Given the description of an element on the screen output the (x, y) to click on. 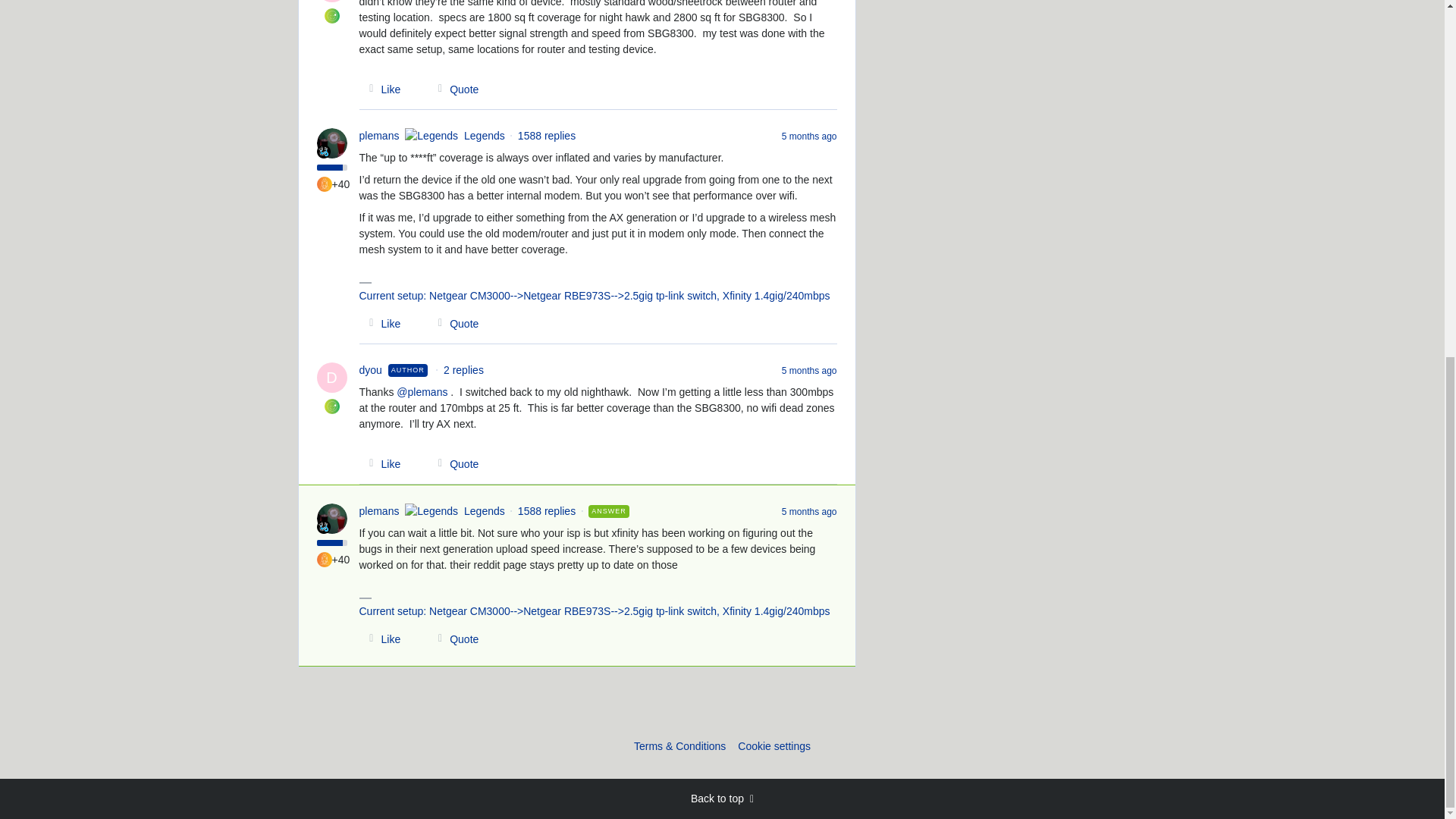
Legends (323, 526)
plemans (378, 135)
Legends (323, 151)
D (332, 1)
5 months ago (809, 135)
Like (380, 639)
No Sweat (331, 406)
Like (380, 323)
Gateway Guru (324, 183)
Cookie settings (774, 746)
